Given the description of an element on the screen output the (x, y) to click on. 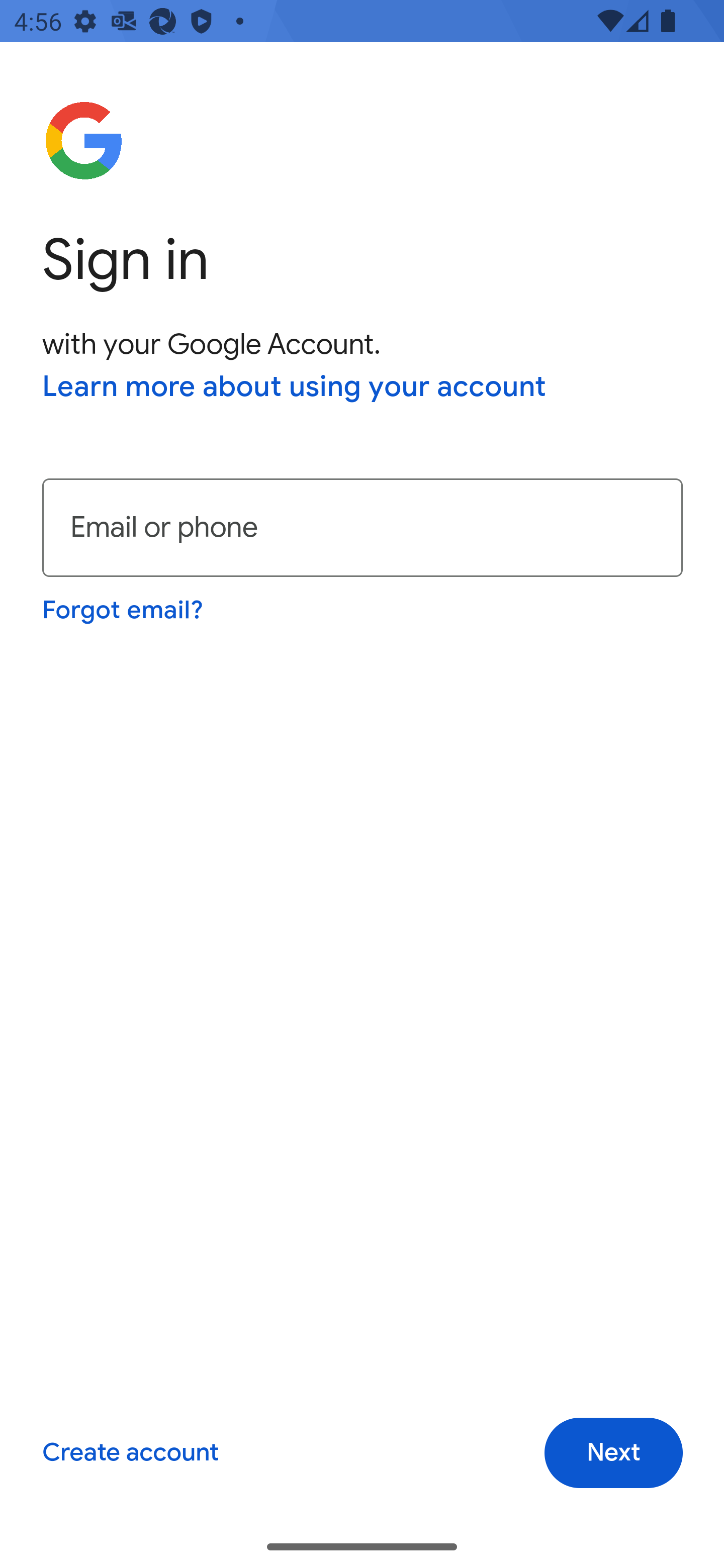
Learn more about using your account (294, 388)
Forgot email? (123, 609)
Next (613, 1453)
Create account (129, 1453)
